Given the description of an element on the screen output the (x, y) to click on. 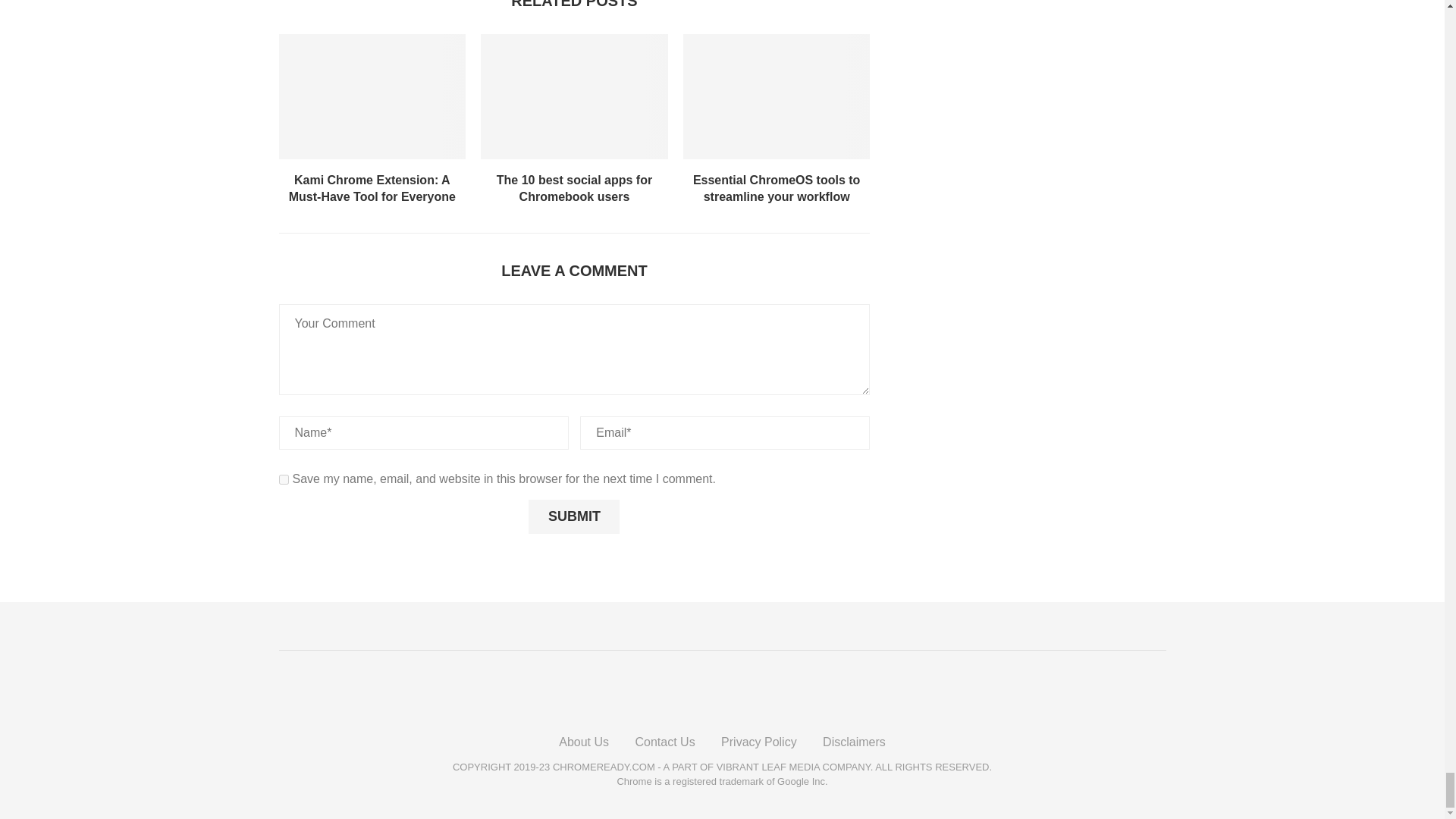
The 10 best social apps for Chromebook users (574, 96)
Essential ChromeOS tools to streamline your workflow (776, 96)
yes (283, 479)
Kami Chrome Extension: A Must-Have Tool for Everyone (372, 96)
Submit (574, 516)
